Given the description of an element on the screen output the (x, y) to click on. 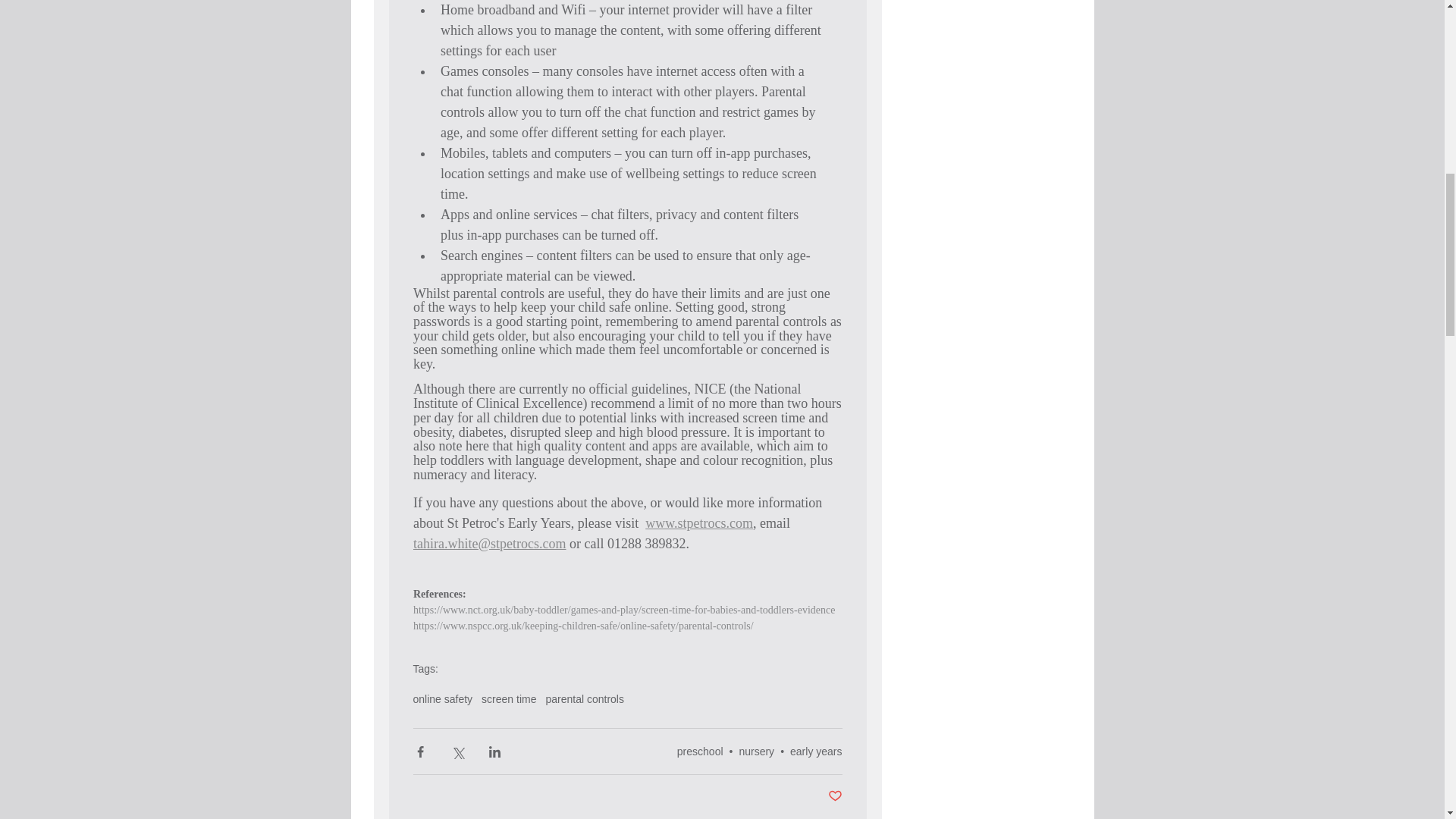
parental controls (584, 698)
online safety (441, 698)
screen time (508, 698)
preschool (700, 751)
www.stpetrocs.com (698, 523)
